Given the description of an element on the screen output the (x, y) to click on. 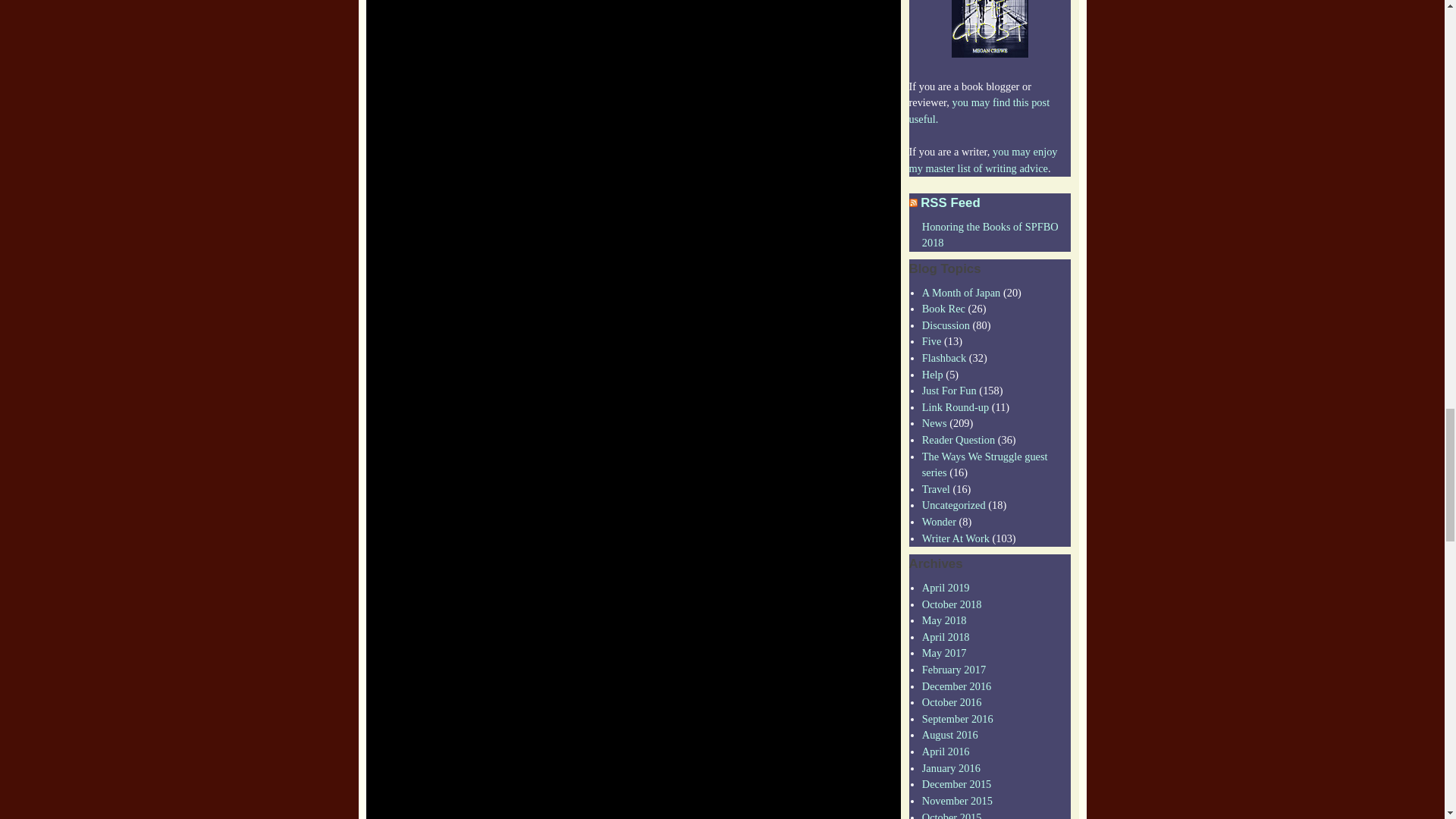
Speculations and curiosities (938, 521)
Where I answer questions from readers (957, 439)
The daily life of a working writer (955, 538)
Book and author news (934, 422)
Awesome books you should check out! (943, 308)
A blog series featuring media by Japanese creators. (961, 292)
